Given the description of an element on the screen output the (x, y) to click on. 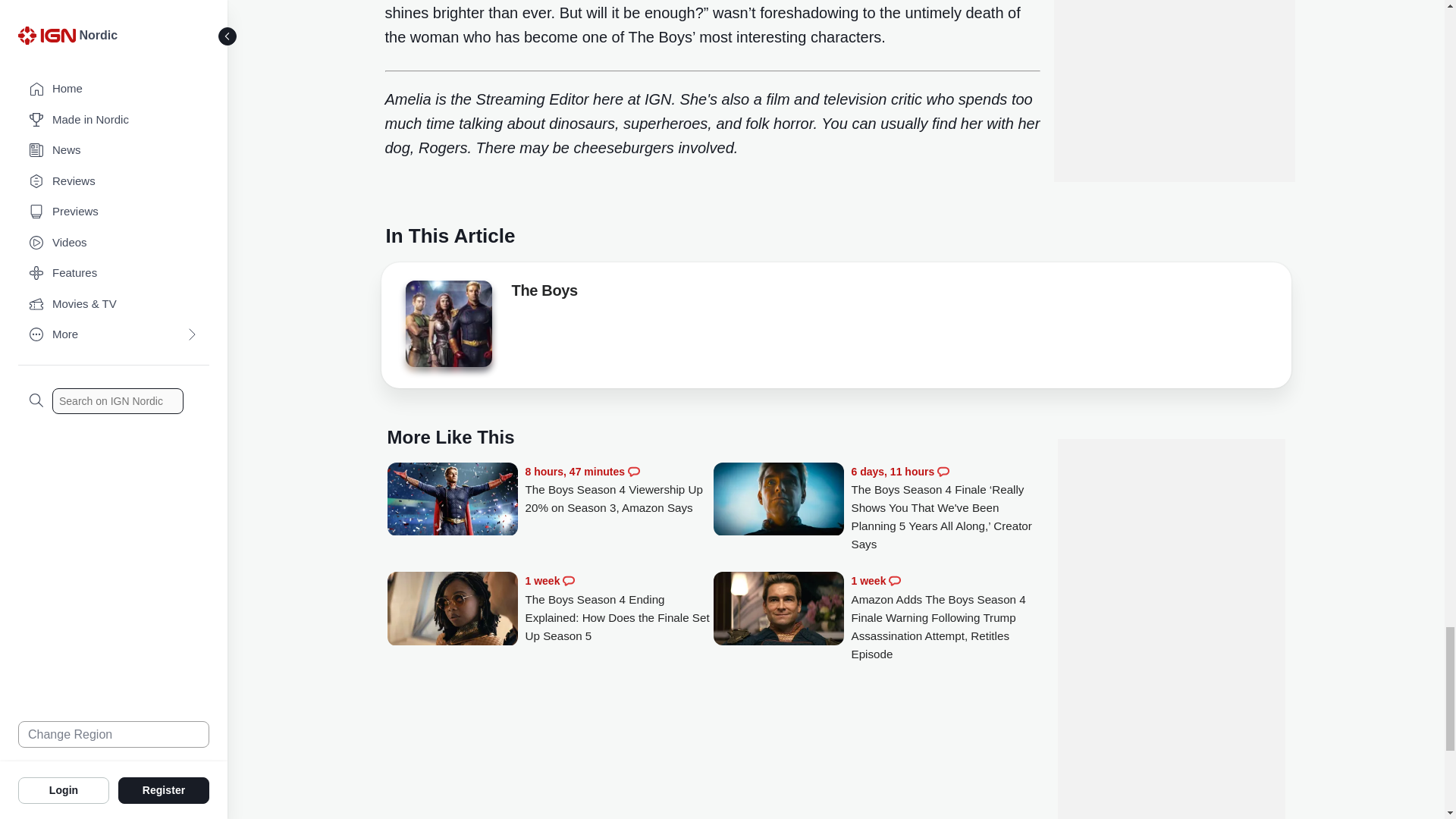
The Boys (448, 323)
Comments (633, 471)
The Boys (448, 328)
The Boys (543, 292)
Comments (894, 580)
Comments (568, 580)
Comments (943, 471)
